Given the description of an element on the screen output the (x, y) to click on. 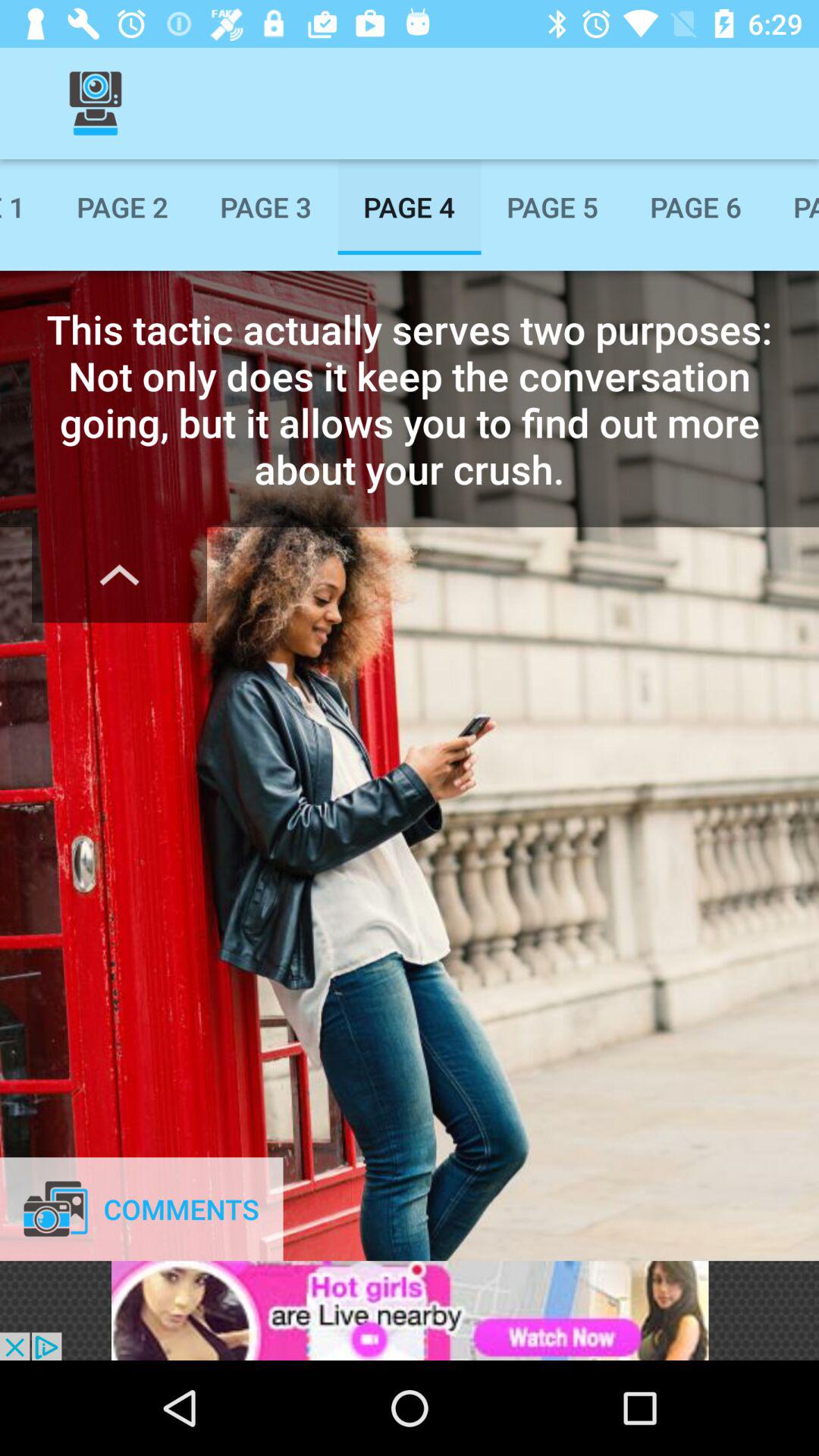
hide text (119, 574)
